Given the description of an element on the screen output the (x, y) to click on. 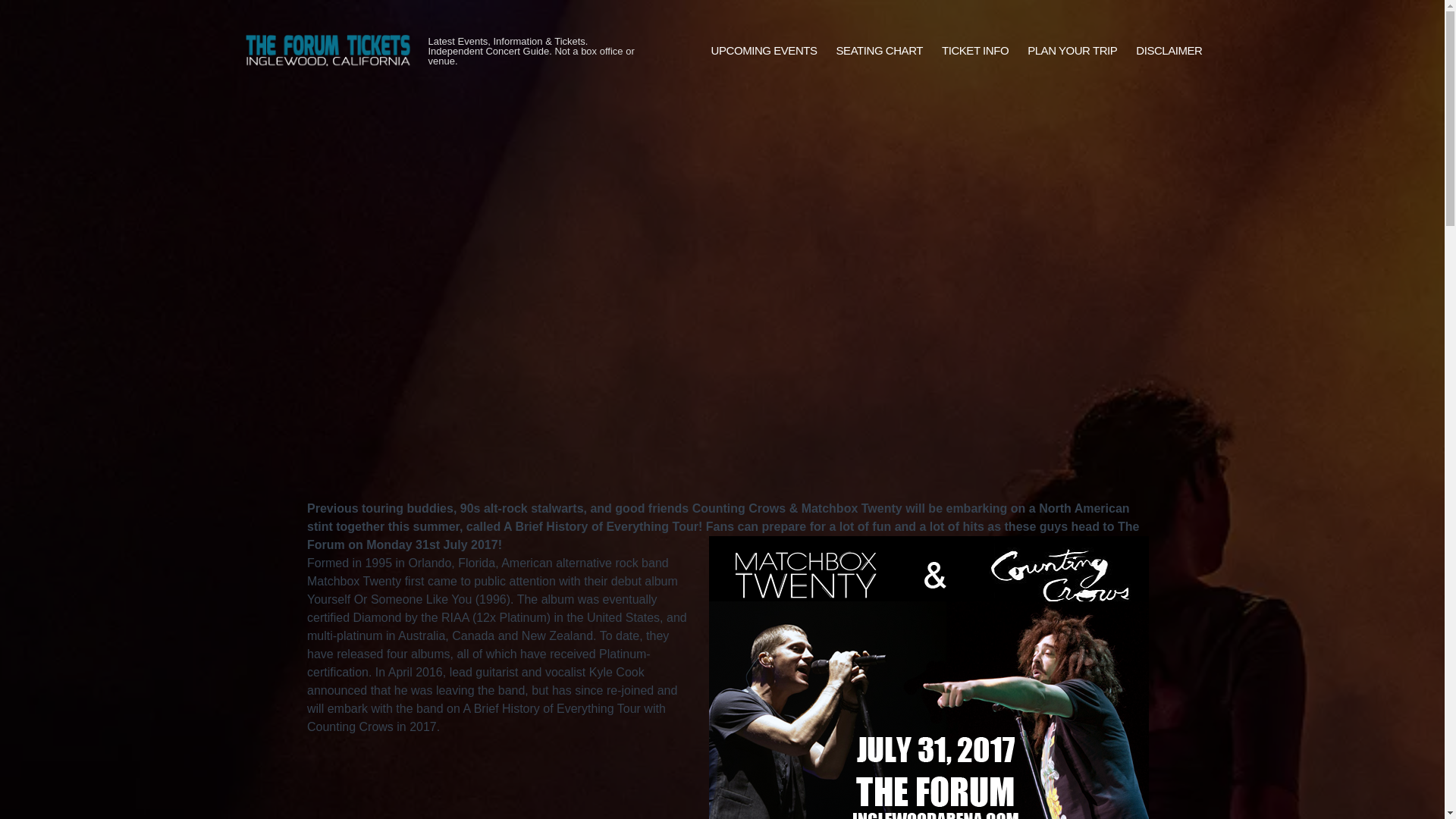
SEATING CHART (879, 50)
UPCOMING EVENTS (763, 50)
TICKET INFO (975, 50)
DISCLAIMER (1168, 50)
PLAN YOUR TRIP (1071, 50)
